Given the description of an element on the screen output the (x, y) to click on. 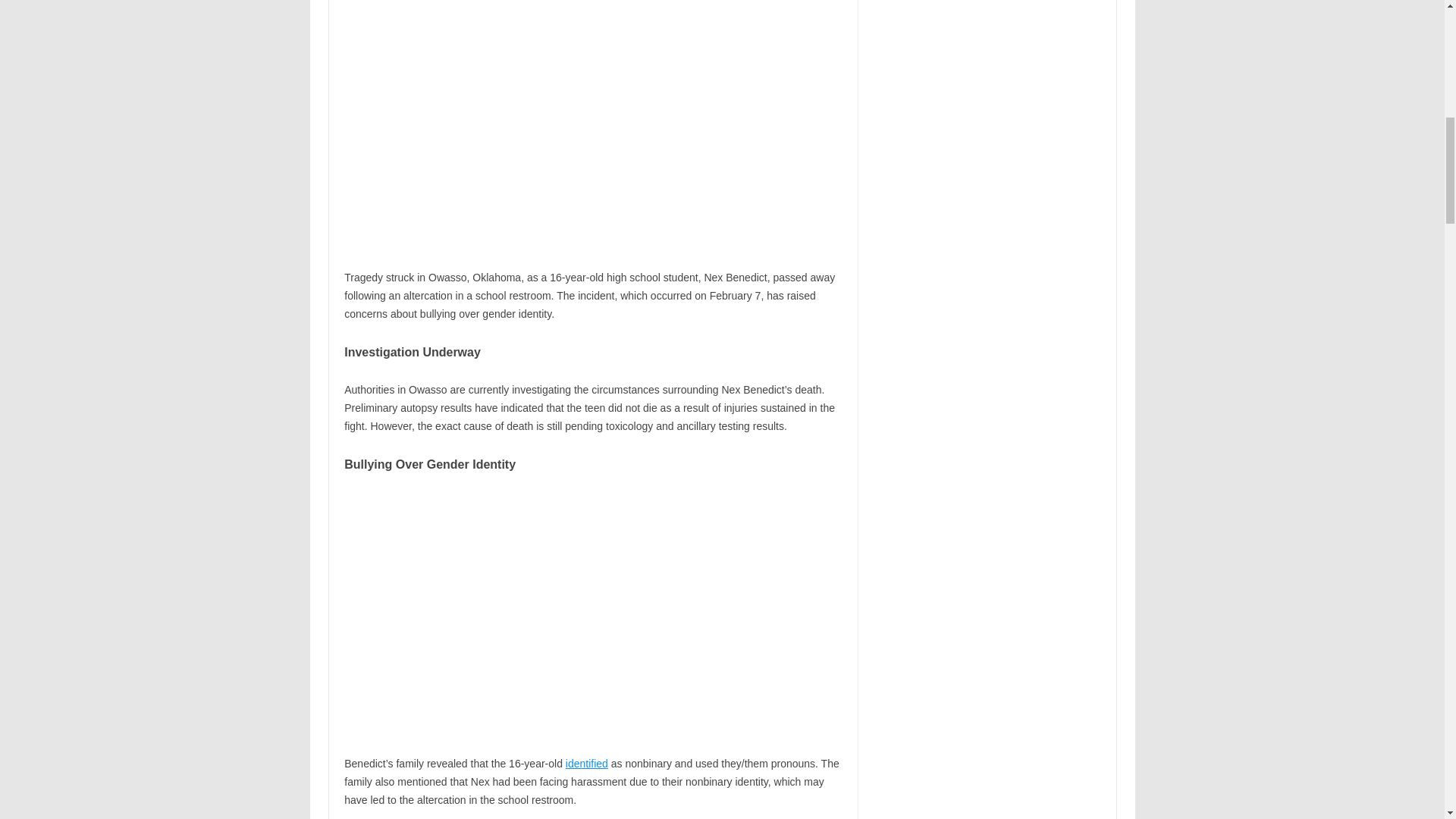
YouTube video player (555, 613)
YouTube video player (555, 126)
identified (587, 763)
